Given the description of an element on the screen output the (x, y) to click on. 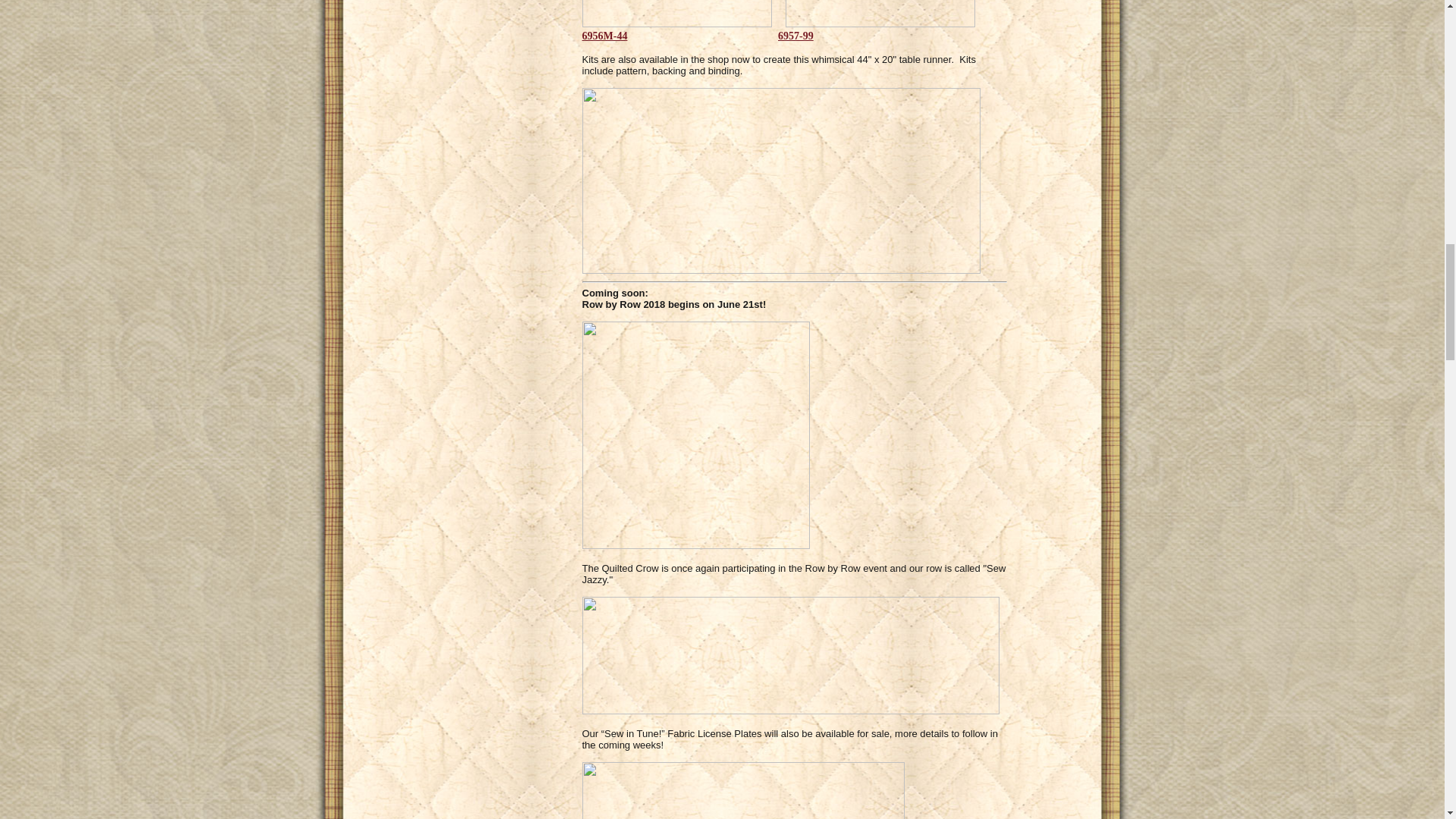
6957-99 (795, 35)
6956M-44 (604, 35)
